Given the description of an element on the screen output the (x, y) to click on. 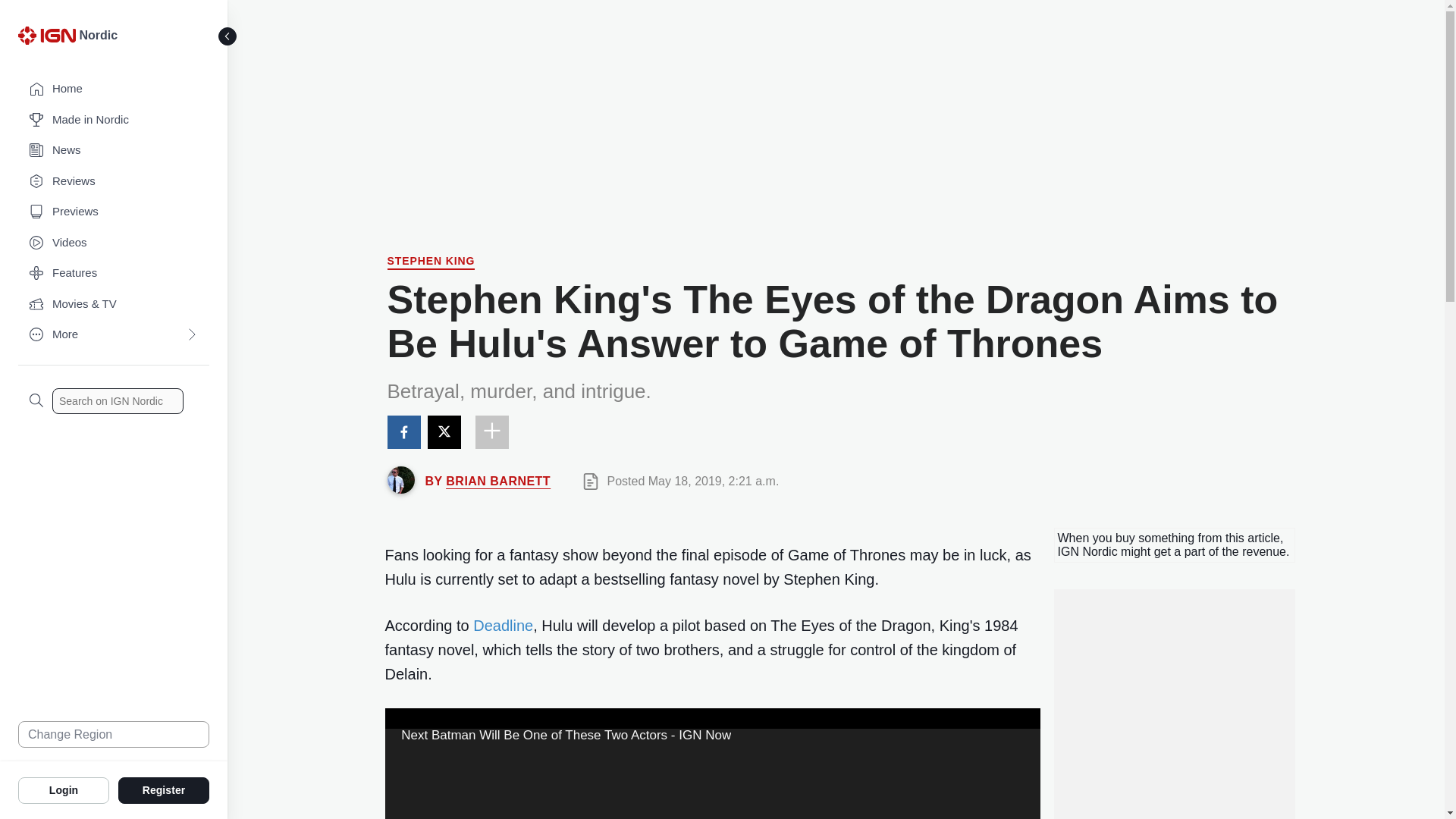
News (113, 150)
Deadline (502, 625)
Reviews (113, 181)
IGN Logo (48, 39)
IGN Logo (46, 34)
Videos (113, 242)
Features (113, 273)
Toggle Sidebar (226, 36)
STEPHEN KING (430, 262)
Home (113, 89)
More (113, 334)
Stephen King (430, 262)
BRIAN BARNETT (497, 481)
Made in Nordic (113, 119)
Previews (113, 211)
